Given the description of an element on the screen output the (x, y) to click on. 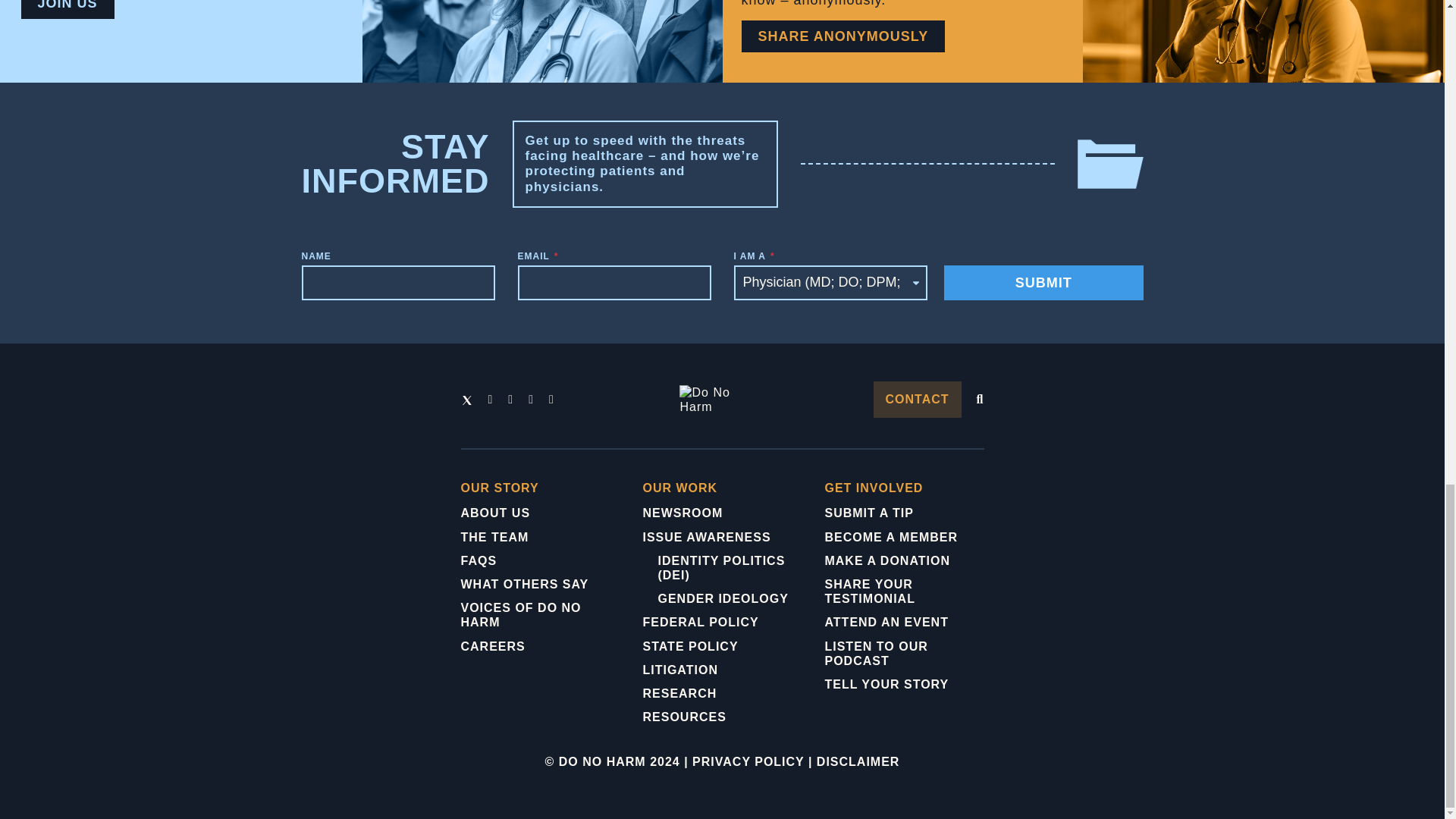
Submit (1042, 282)
